Given the description of an element on the screen output the (x, y) to click on. 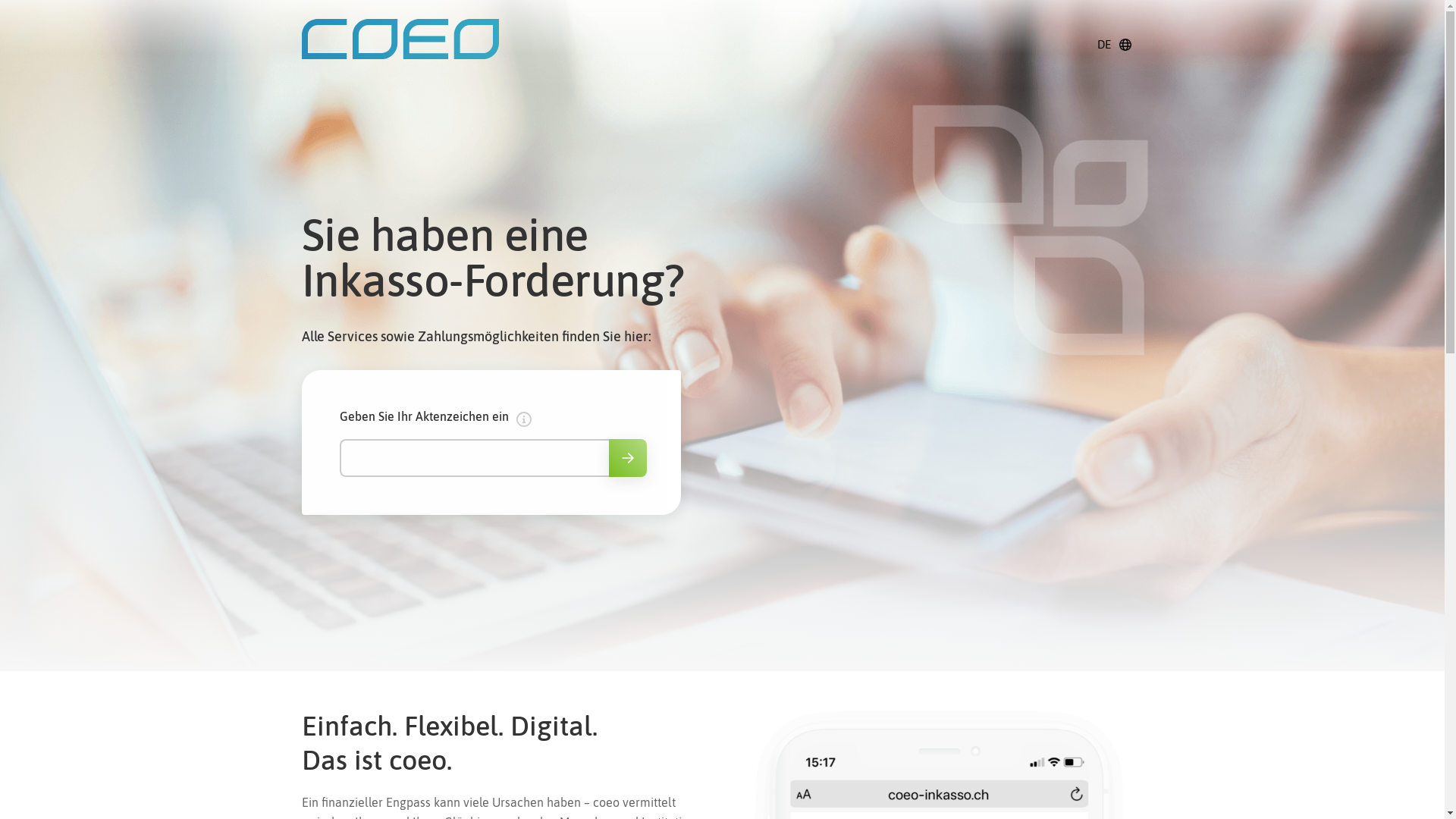
title Element type: hover (722, 335)
Zur Startseite Element type: hover (399, 43)
DE Element type: text (1114, 44)
Skip to content Element type: text (18, 18)
